Given the description of an element on the screen output the (x, y) to click on. 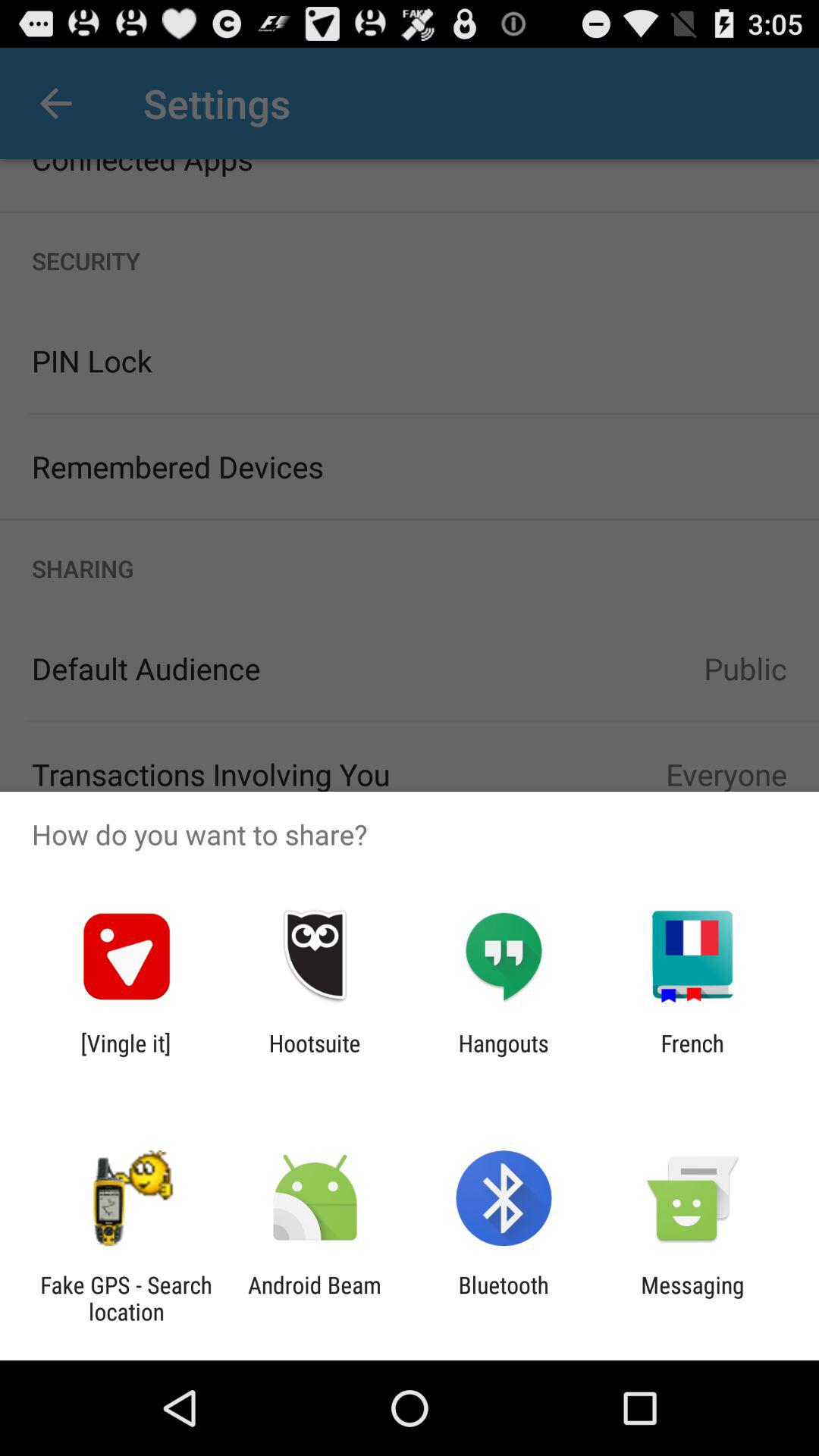
tap the fake gps search item (125, 1298)
